Given the description of an element on the screen output the (x, y) to click on. 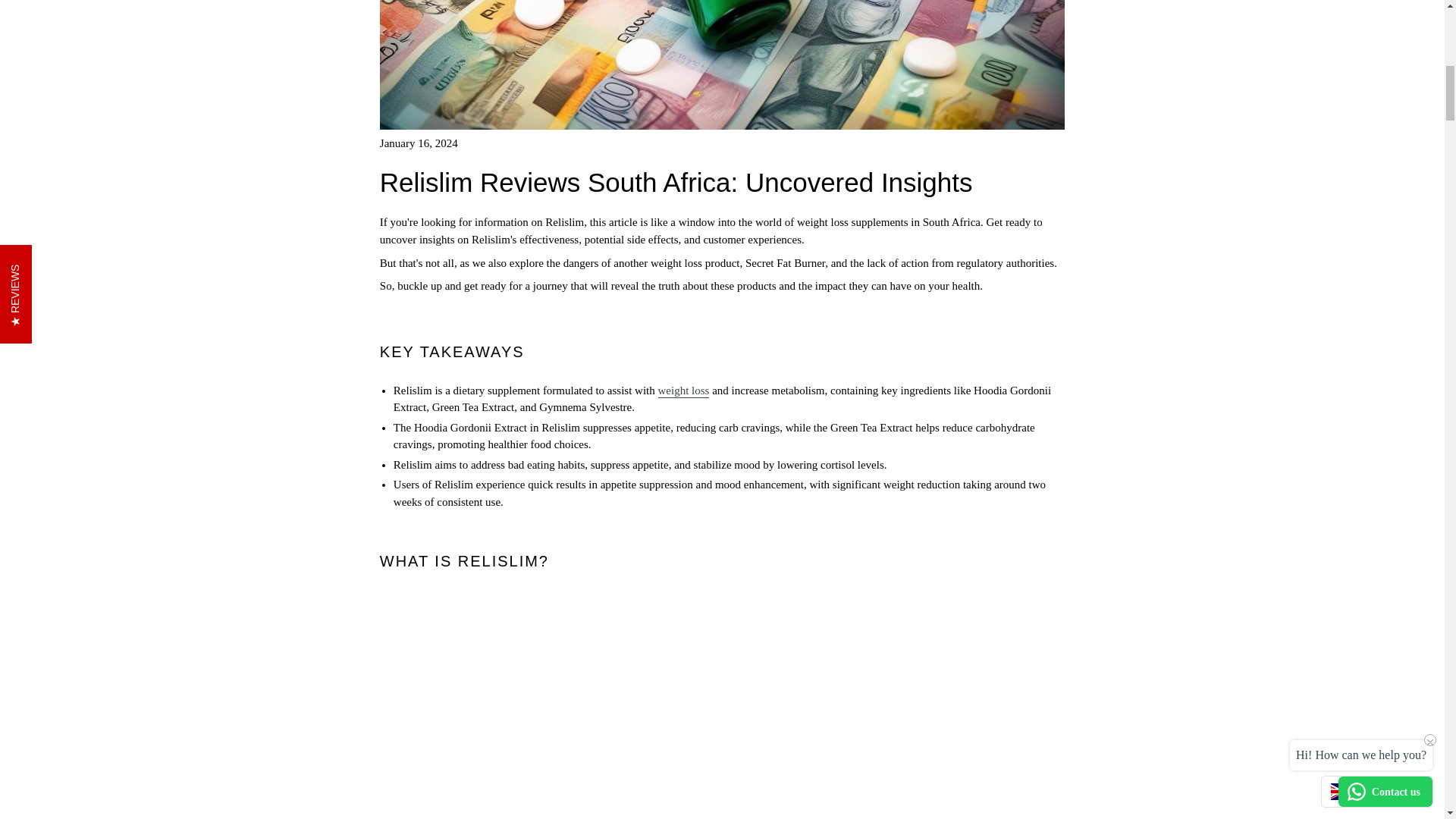
weight loss (684, 391)
